Given the description of an element on the screen output the (x, y) to click on. 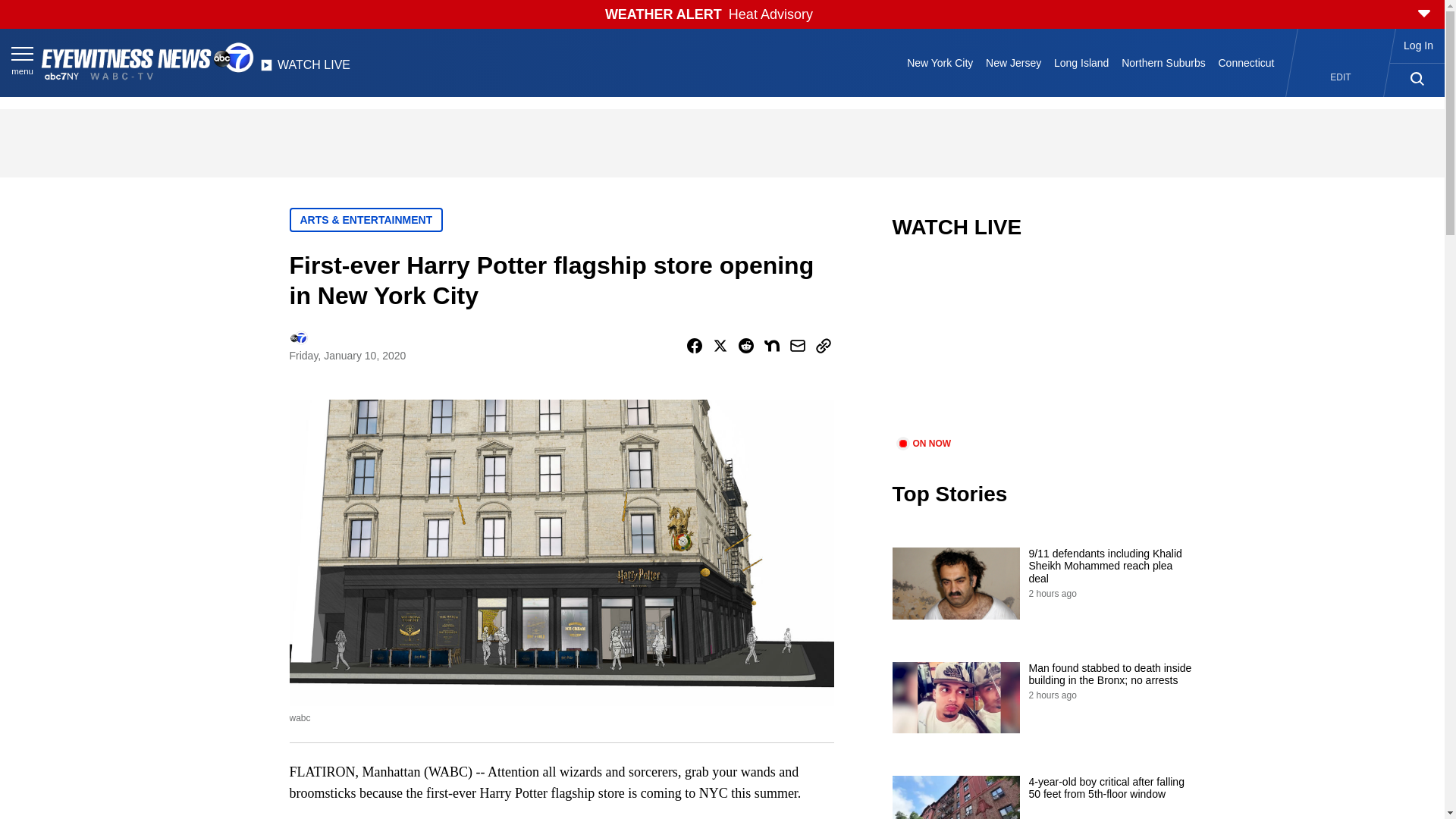
Long Island (1081, 62)
EDIT (1340, 77)
WATCH LIVE (305, 69)
New Jersey (1013, 62)
Northern Suburbs (1163, 62)
video.title (1043, 347)
Connecticut (1246, 62)
New York City (940, 62)
